Given the description of an element on the screen output the (x, y) to click on. 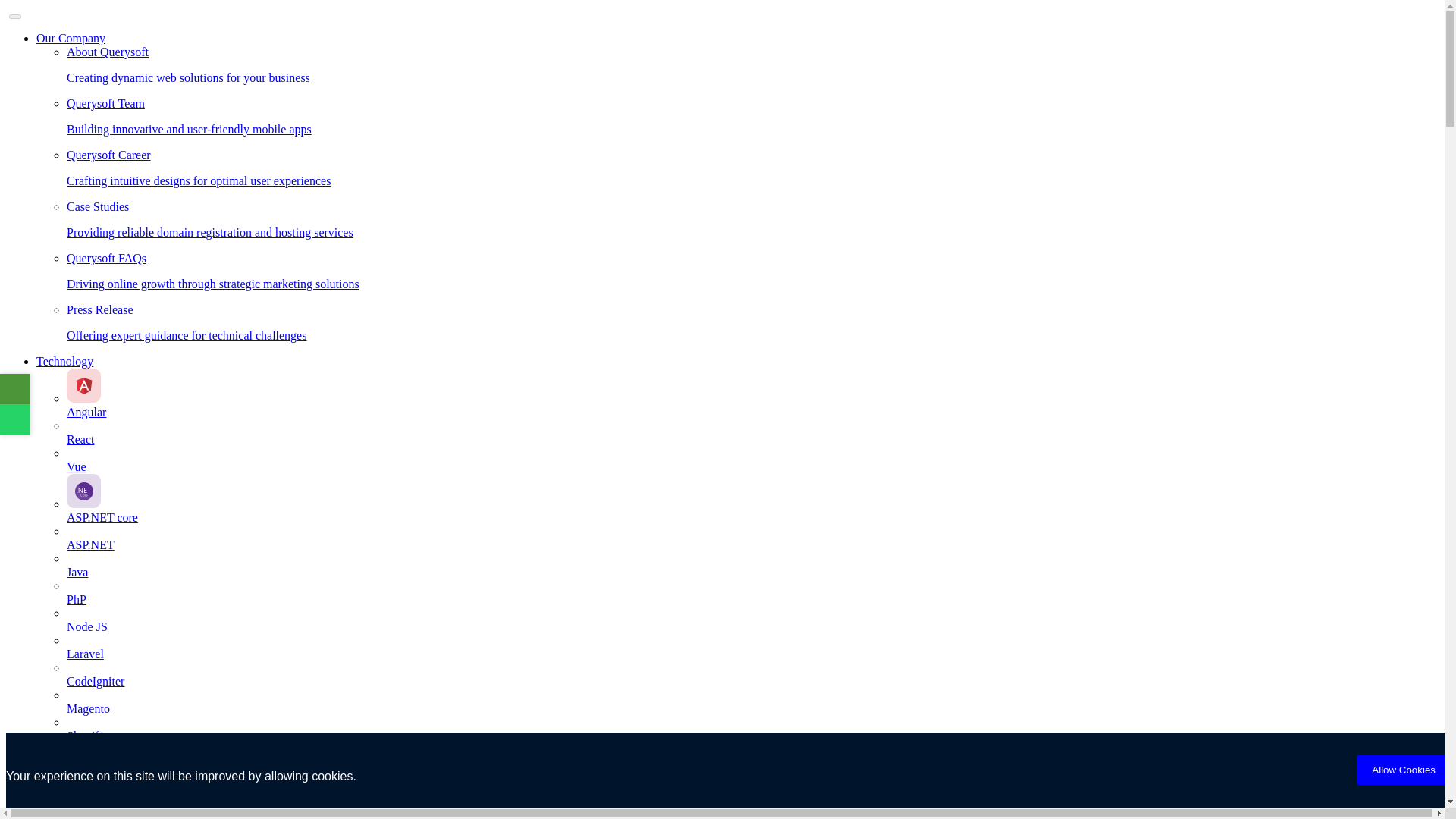
PhP (752, 605)
Magento (752, 715)
Vue (752, 473)
Our Company (70, 38)
ASP.NET core (752, 510)
ASP.NET (752, 551)
Node JS (752, 633)
CodeIgniter (752, 687)
Technology (64, 360)
